Given the description of an element on the screen output the (x, y) to click on. 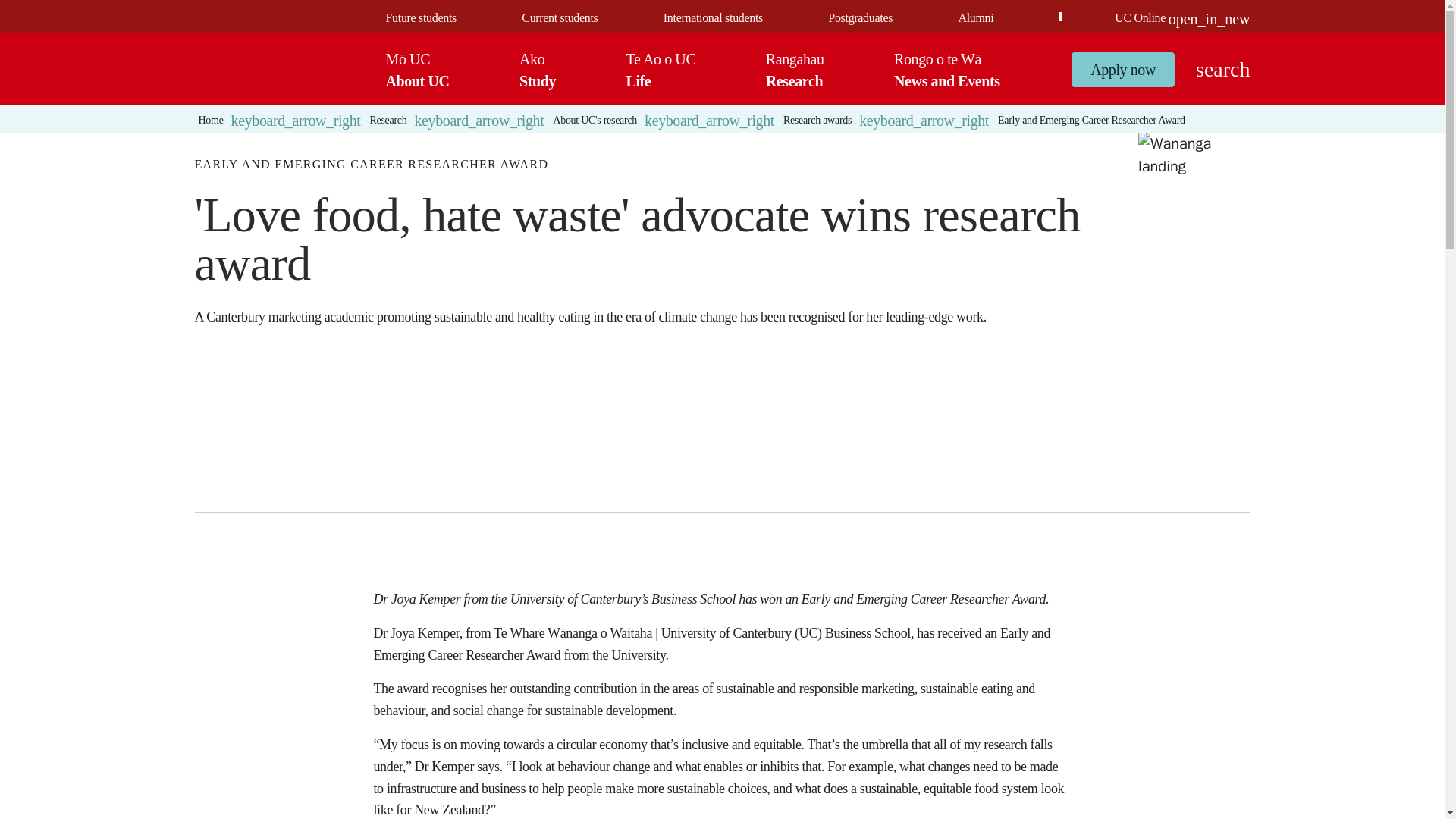
International students (712, 17)
Current students (558, 17)
Alumni (975, 17)
Postgraduates (860, 17)
Future students (420, 17)
